Given the description of an element on the screen output the (x, y) to click on. 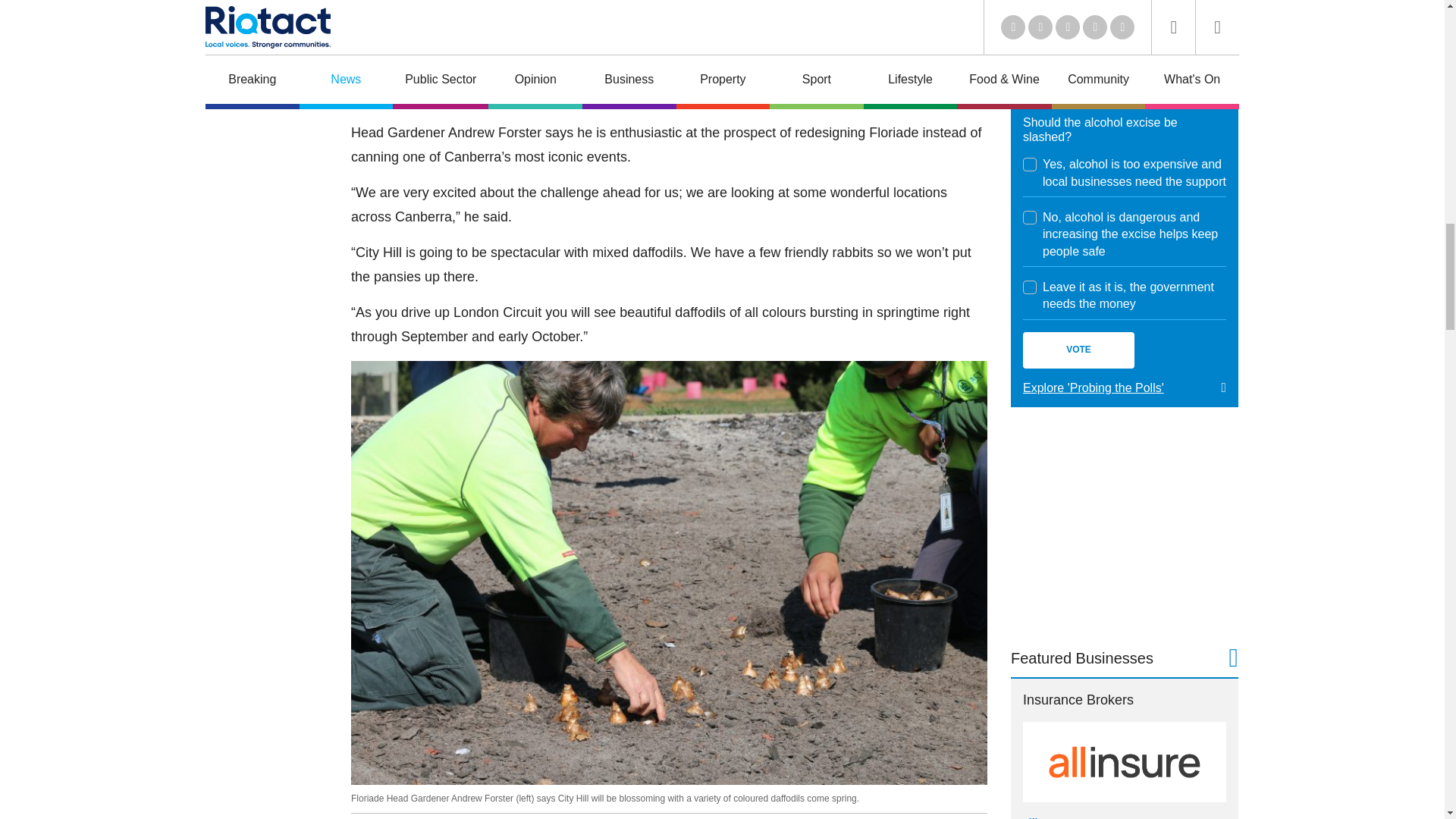
2048 (1029, 287)
   Vote    (1078, 350)
Zango Sales (1124, 16)
2046 (1029, 164)
2047 (1029, 217)
